Given the description of an element on the screen output the (x, y) to click on. 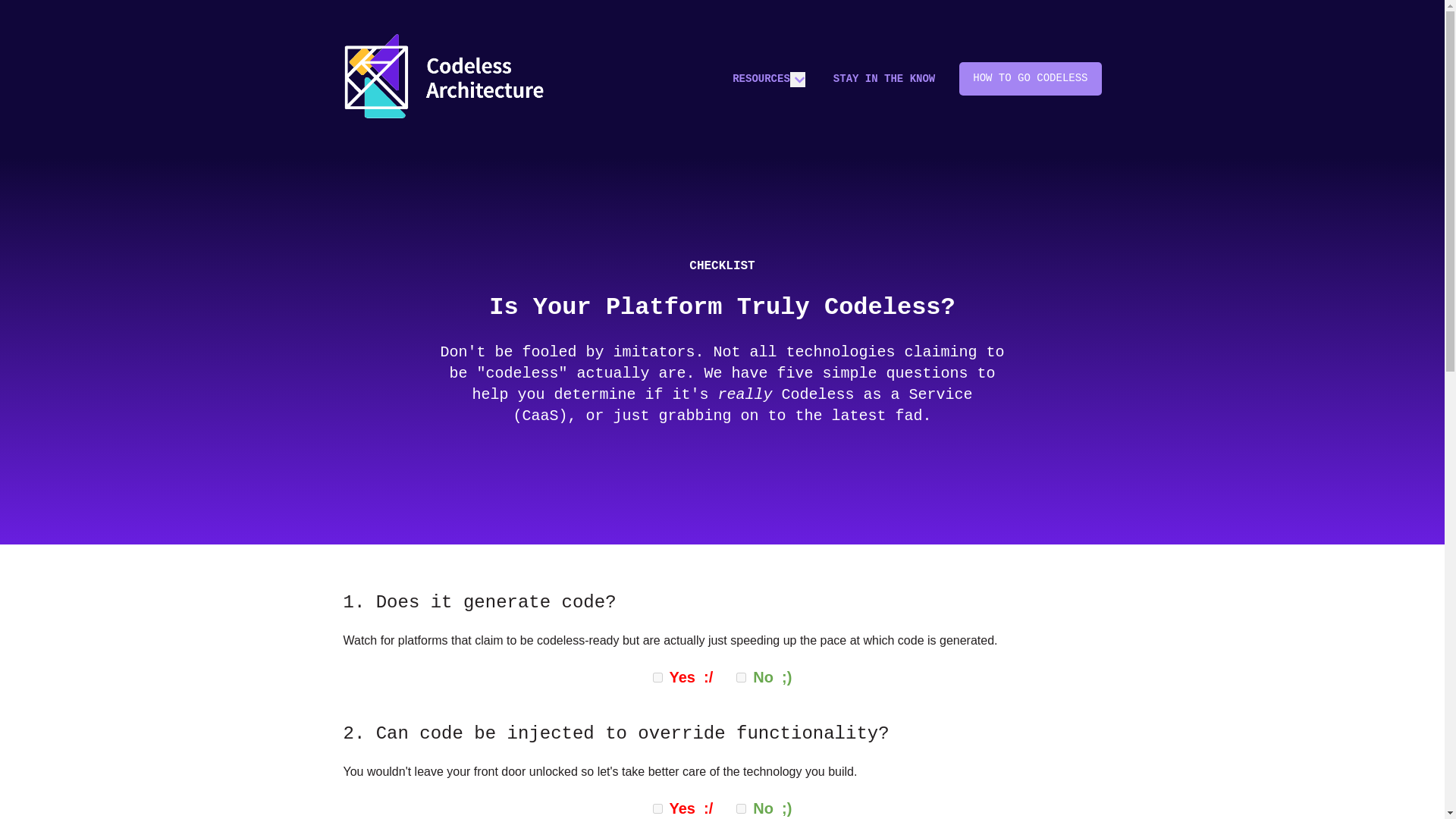
HOW TO GO CODELESS (1029, 78)
Yes (657, 677)
no (740, 677)
RESOURCES (761, 79)
Yes (657, 808)
no (740, 808)
STAY IN THE KNOW (883, 79)
